Given the description of an element on the screen output the (x, y) to click on. 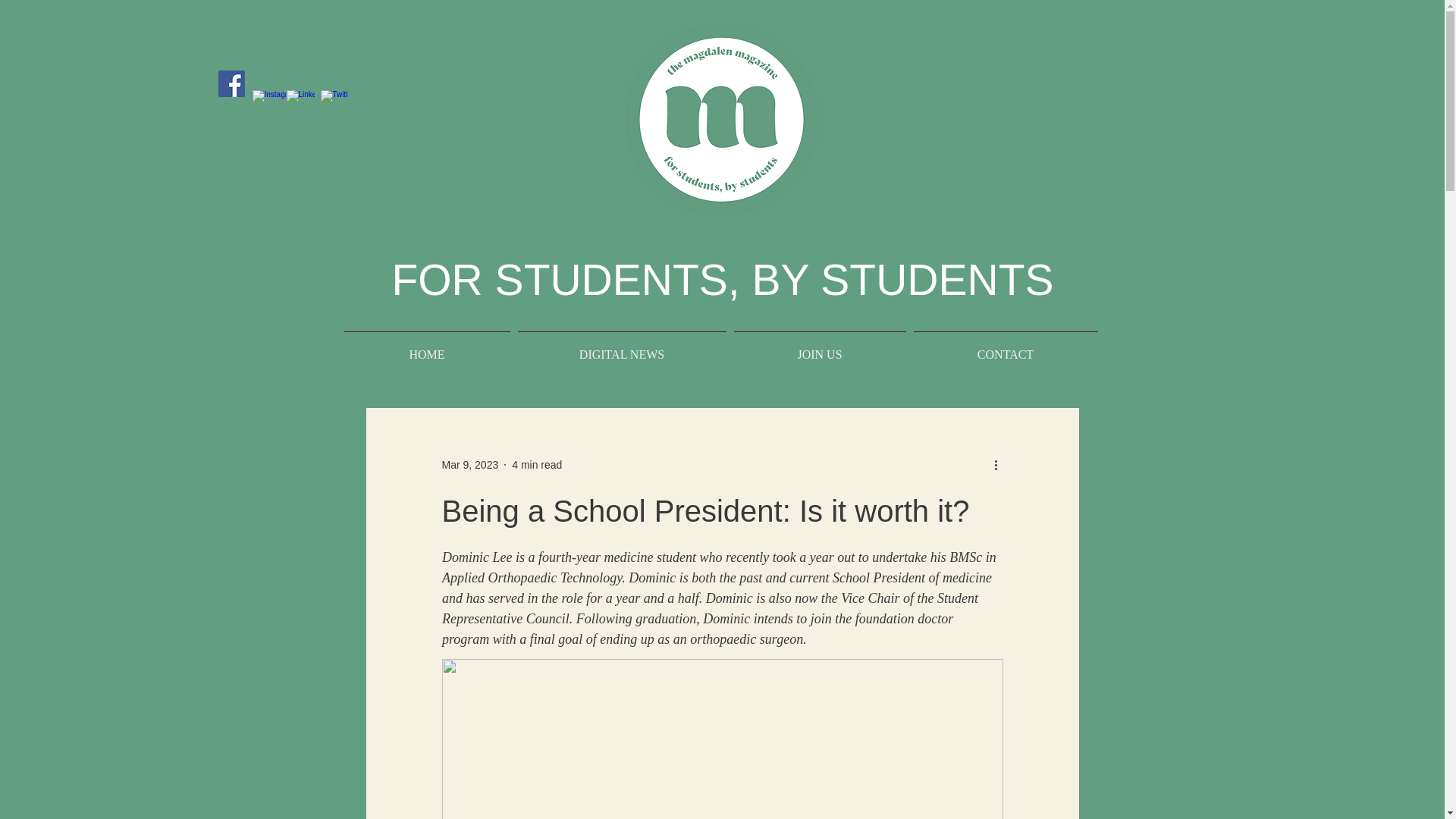
JOIN US (818, 347)
HOME (426, 347)
Mar 9, 2023 (469, 463)
CONTACT (1006, 347)
DIGITAL NEWS (621, 347)
4 min read (537, 463)
